Given the description of an element on the screen output the (x, y) to click on. 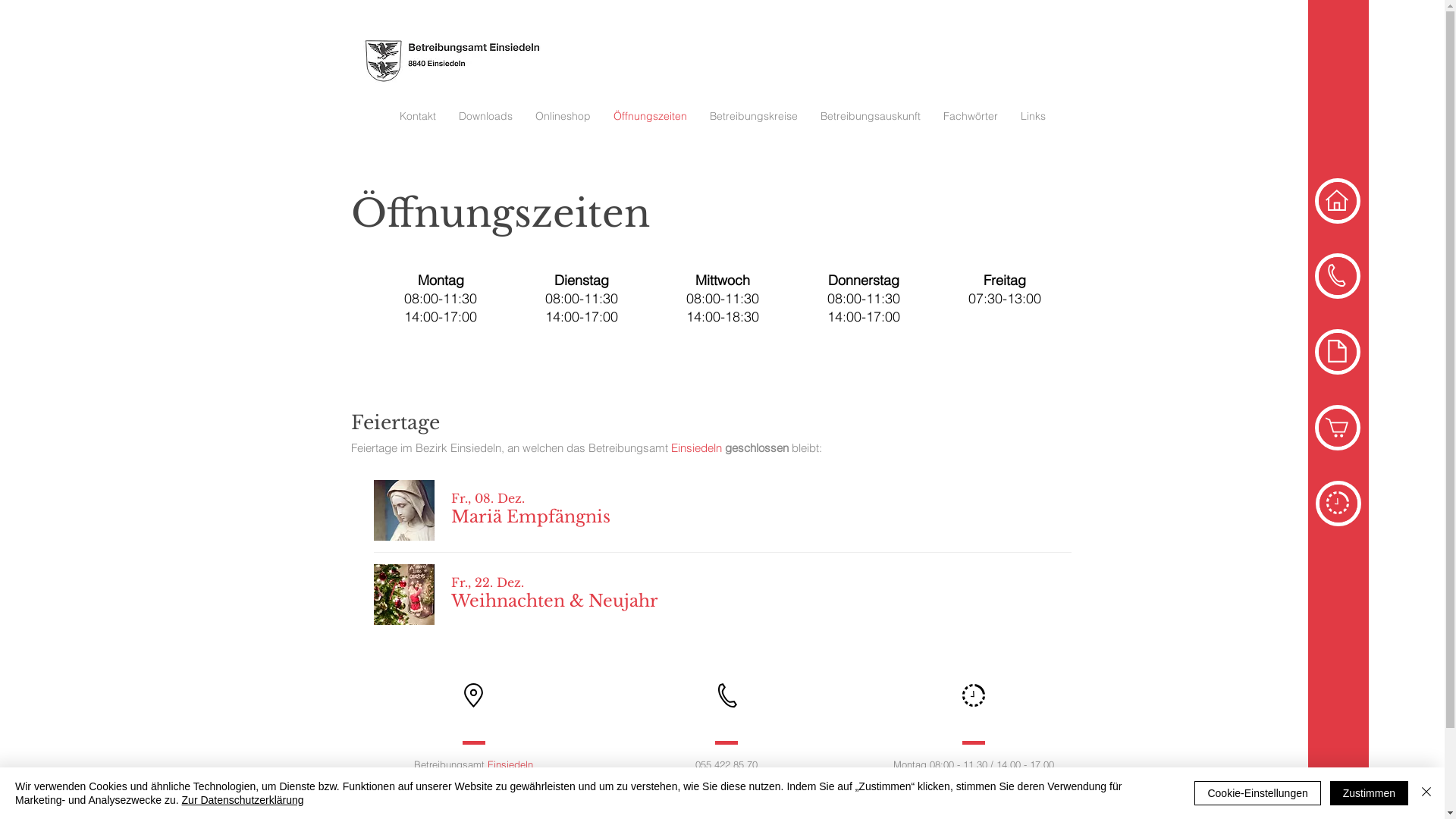
Onlineshop Element type: text (563, 116)
Kontakt Element type: text (417, 116)
Betreibungsauskunft Element type: text (870, 116)
Open for Business Element type: hover (721, 313)
Links Element type: text (1033, 116)
Zustimmen Element type: text (1369, 793)
Fr., 22. Dez.
Weihnachten & Neujahr Element type: text (558, 594)
Cookie-Einstellungen Element type: text (1257, 793)
Betreibungskreise Element type: text (753, 116)
Downloads Element type: text (485, 116)
